Given the description of an element on the screen output the (x, y) to click on. 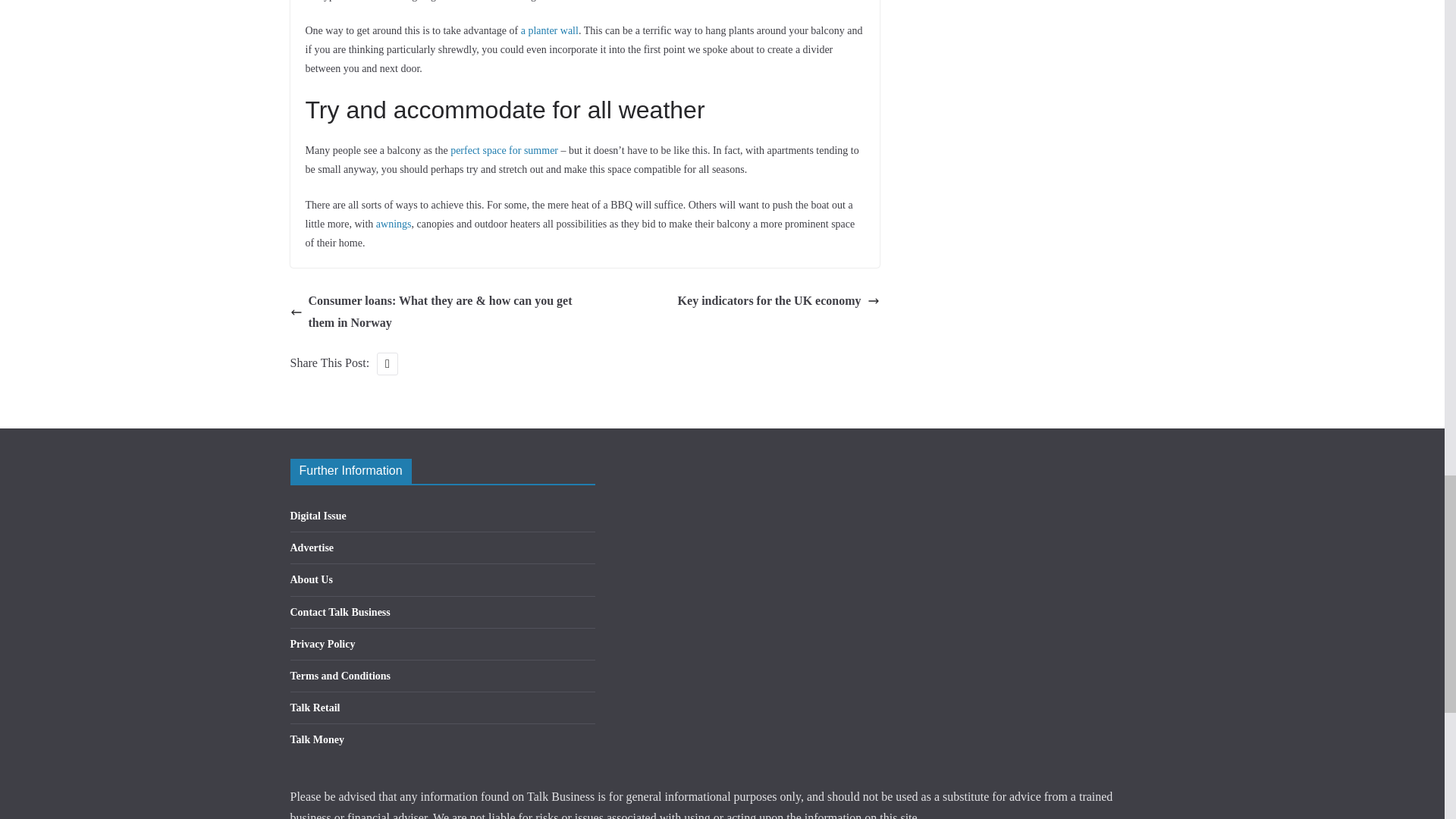
perfect space for summer (503, 150)
Key indicators for the UK economy (778, 301)
a planter wall (549, 30)
awnings (393, 224)
